Given the description of an element on the screen output the (x, y) to click on. 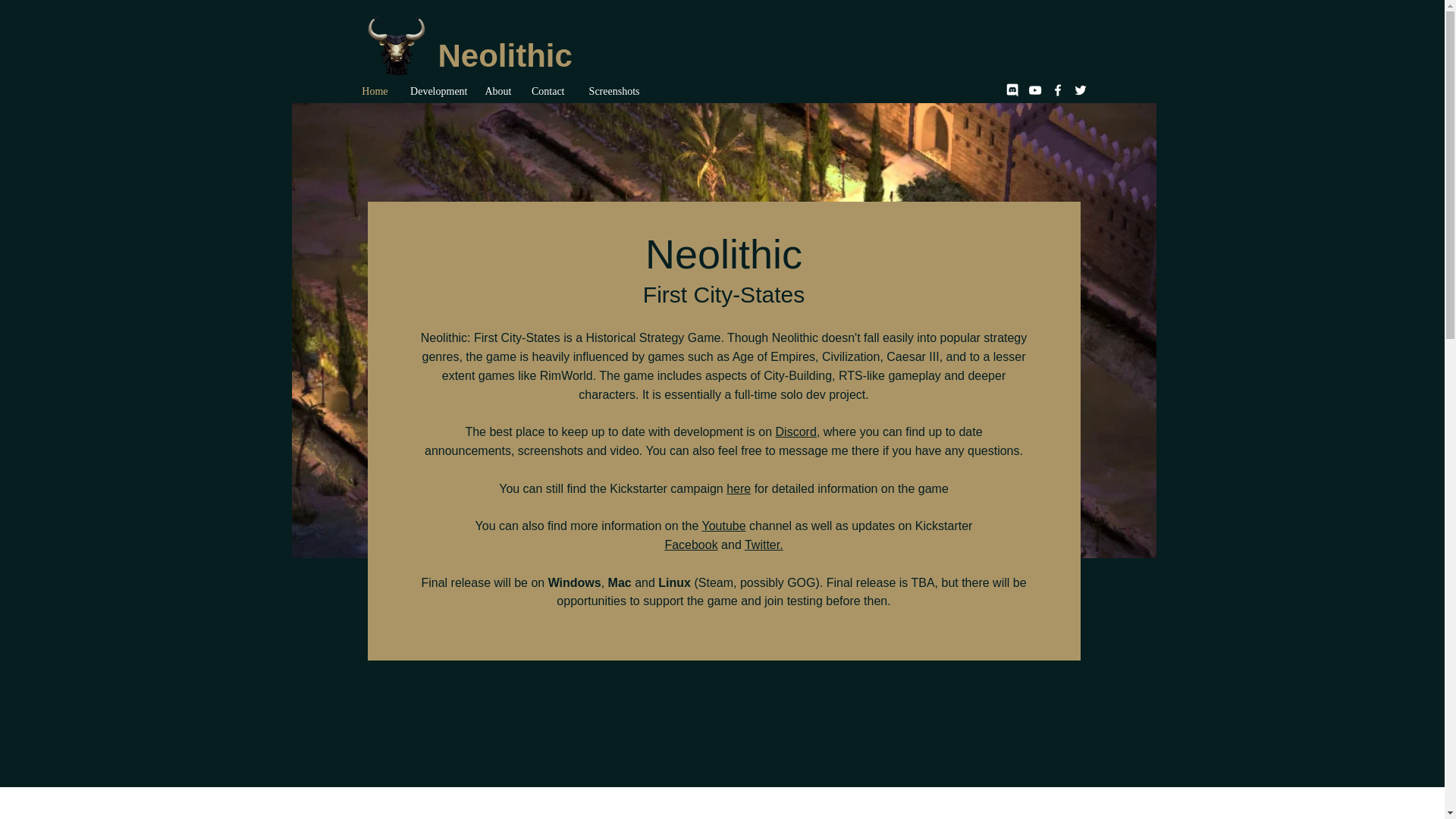
Screenshots (609, 91)
Home (372, 91)
About (496, 91)
Twitter. (763, 544)
here (738, 488)
Contact (545, 91)
Facebook (690, 544)
Youtube (723, 525)
Discord, (798, 431)
Development (436, 91)
